Given the description of an element on the screen output the (x, y) to click on. 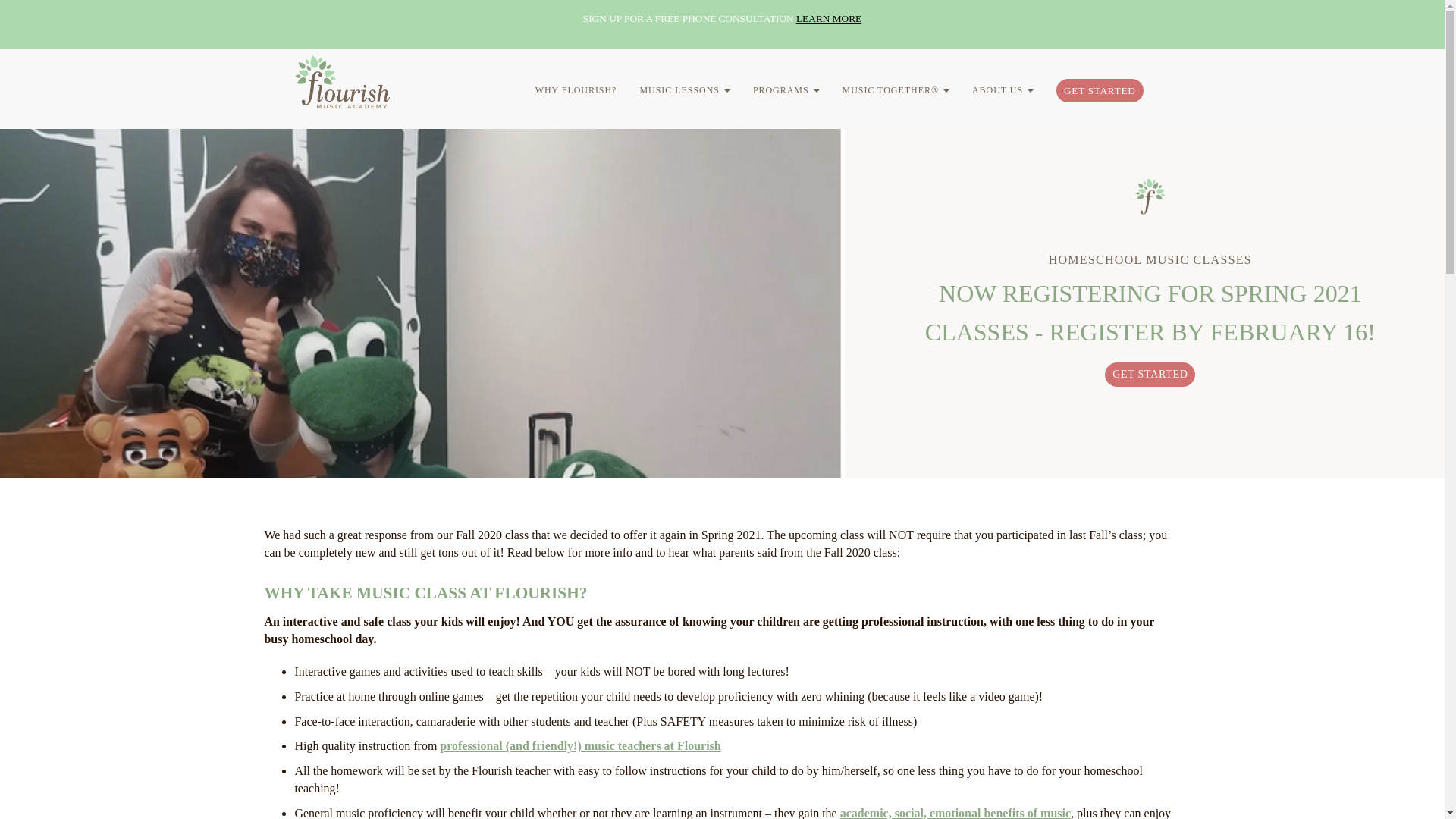
ABOUT US (1002, 89)
academic, social, emotional benefits of music (955, 812)
GET STARTED (1099, 94)
GET STARTED (1150, 374)
Programs (786, 89)
LEARN MORE (828, 18)
GET STARTED (1099, 90)
GET STARTED (1150, 370)
MUSIC LESSONS (684, 89)
Get Started (1099, 94)
